Given the description of an element on the screen output the (x, y) to click on. 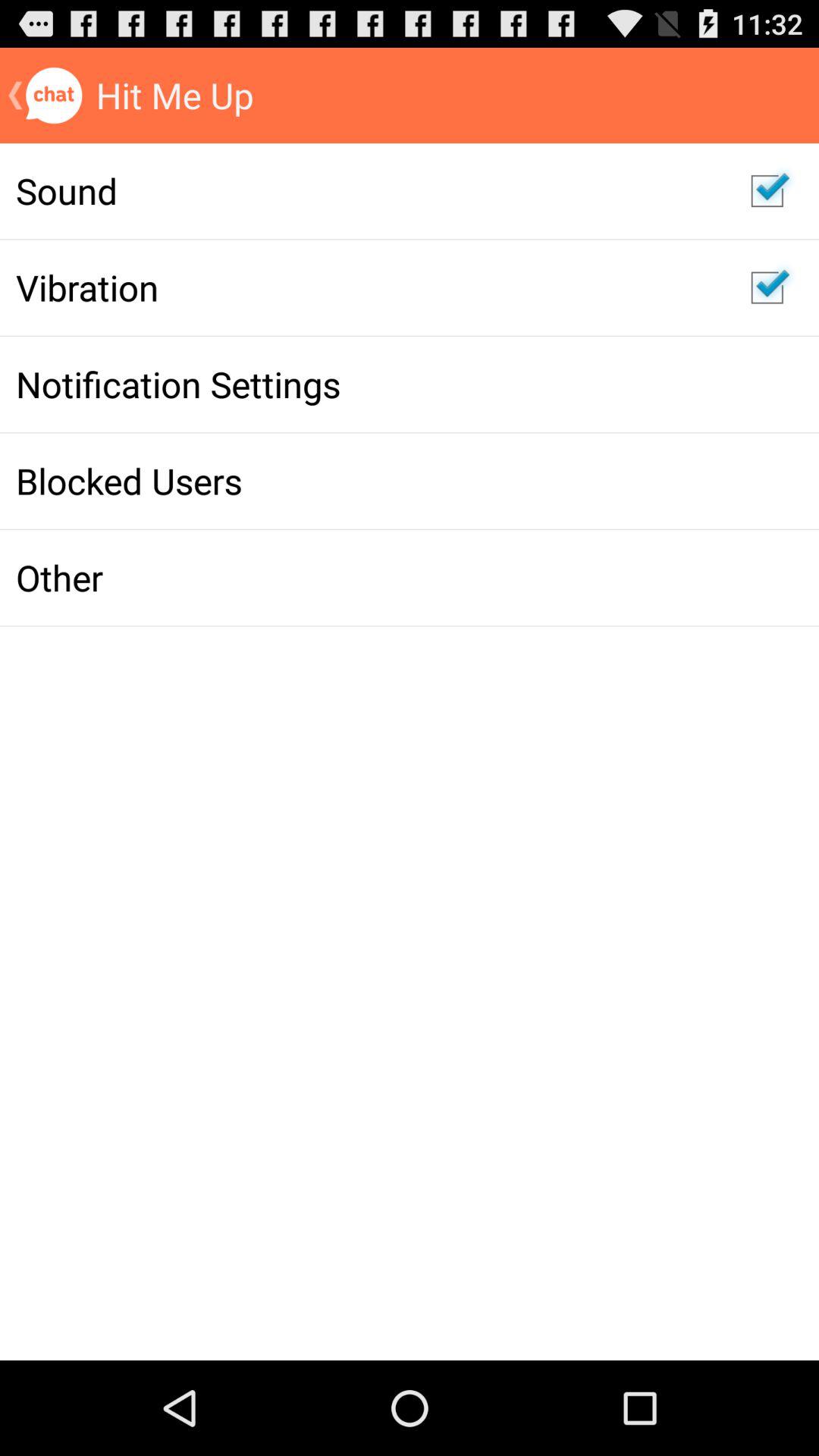
choose the app above blocked users icon (367, 384)
